Given the description of an element on the screen output the (x, y) to click on. 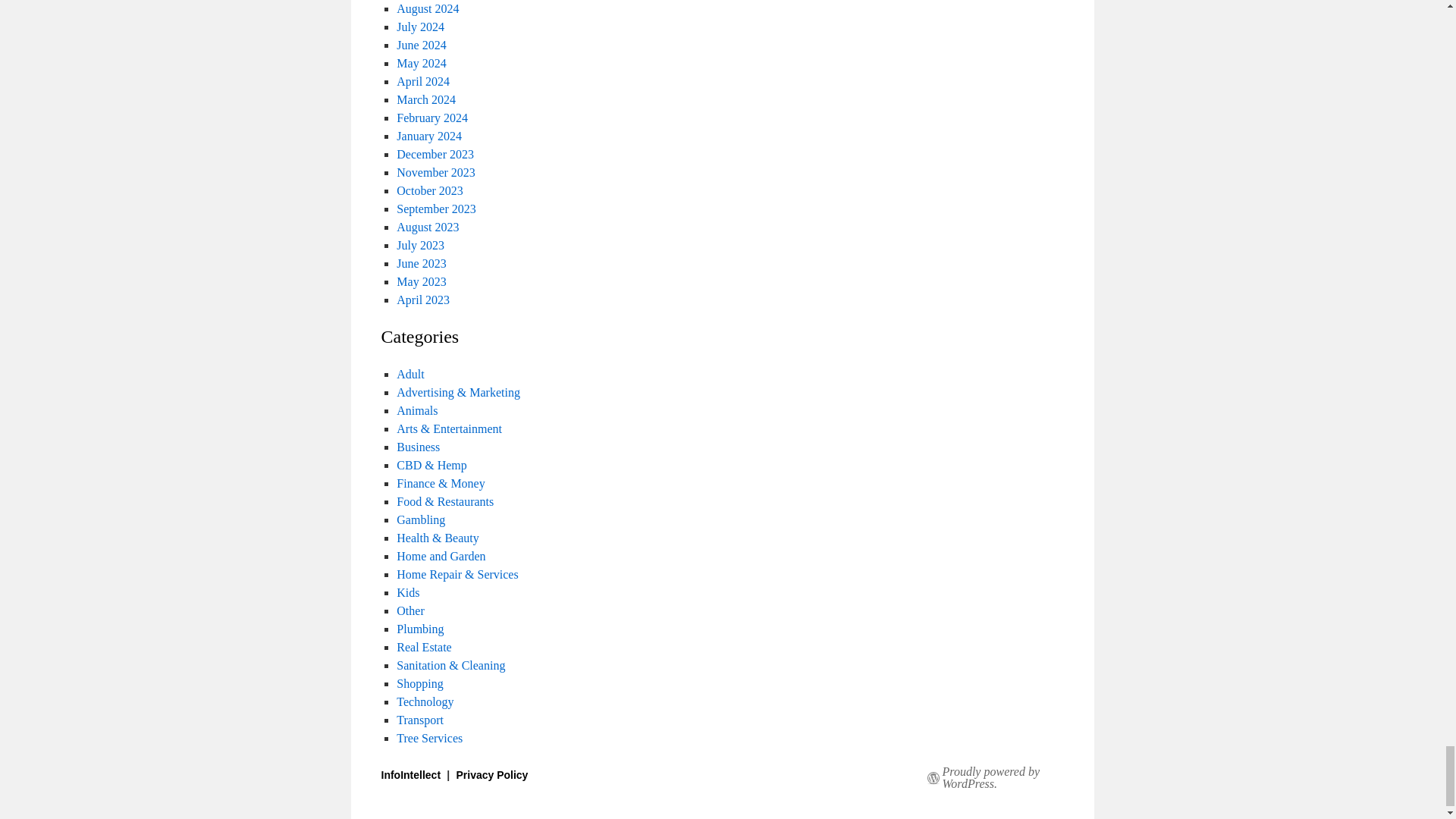
July 2023 (420, 245)
April 2023 (422, 299)
November 2023 (436, 172)
June 2023 (420, 263)
June 2024 (420, 44)
December 2023 (435, 154)
Adult (409, 373)
Semantic Personal Publishing Platform (1009, 777)
October 2023 (429, 190)
September 2023 (436, 208)
